Given the description of an element on the screen output the (x, y) to click on. 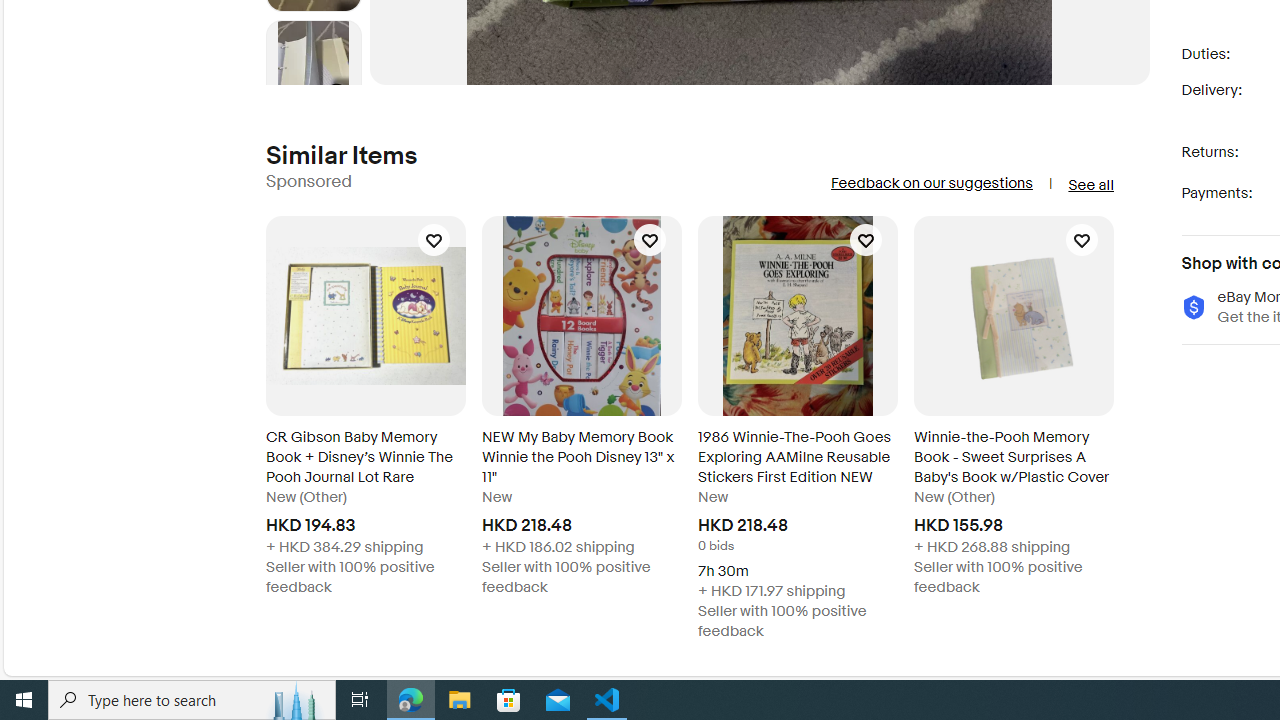
See all (1090, 184)
Picture 6 of 22 (313, 67)
Next image - Item images thumbnails (313, 80)
Feedback on our suggestions (930, 183)
Picture 6 of 22 (313, 67)
